Given the description of an element on the screen output the (x, y) to click on. 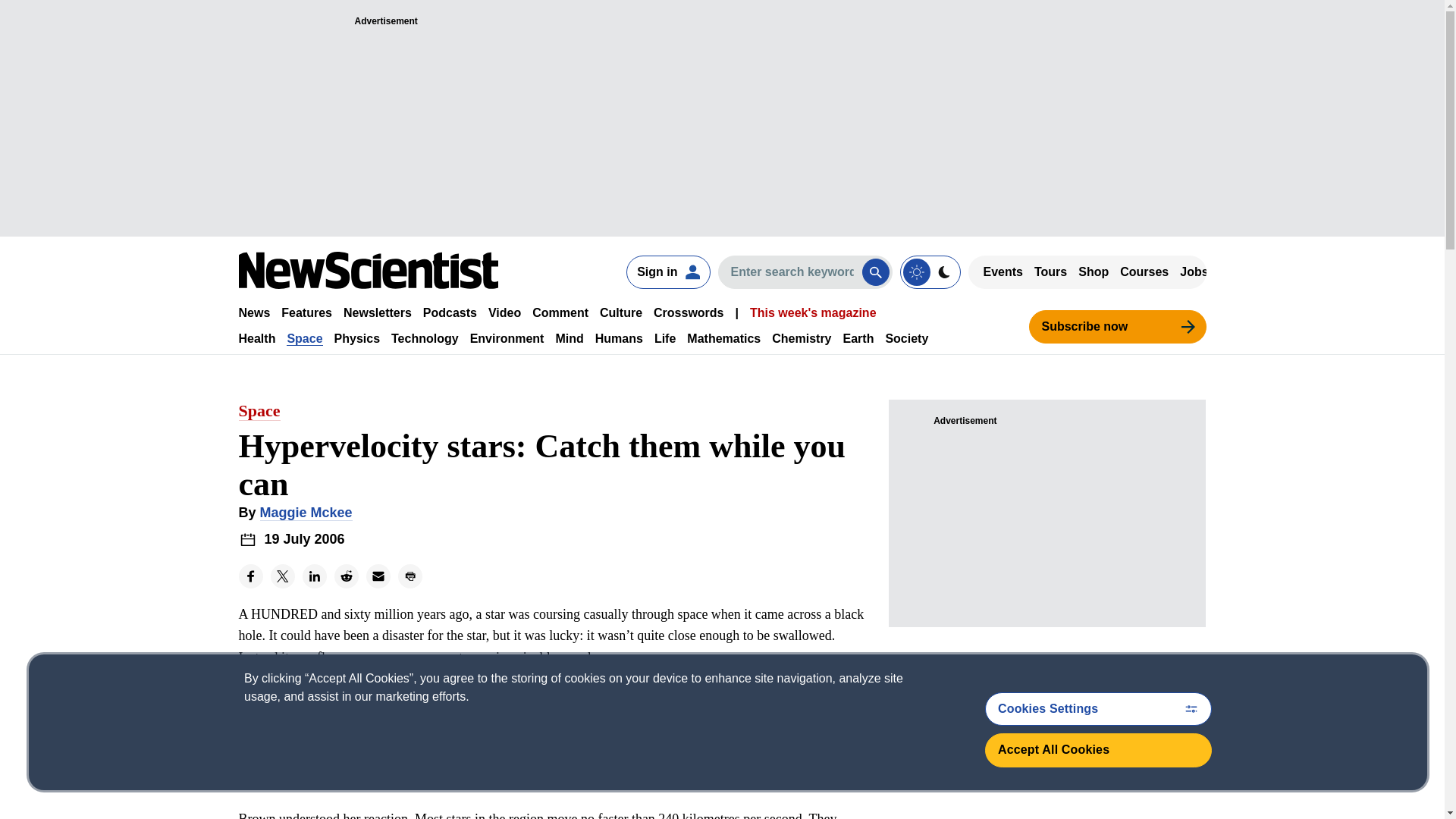
Subscribe now (1116, 326)
Calendar icon (247, 538)
Society (906, 338)
Podcasts (450, 313)
Newsletters (377, 313)
Events (1002, 272)
News (253, 313)
on (929, 272)
Space (303, 338)
Sign in (668, 272)
Crosswords (688, 313)
Video (504, 313)
Mathematics (723, 338)
Technology (424, 338)
Comment (560, 313)
